Given the description of an element on the screen output the (x, y) to click on. 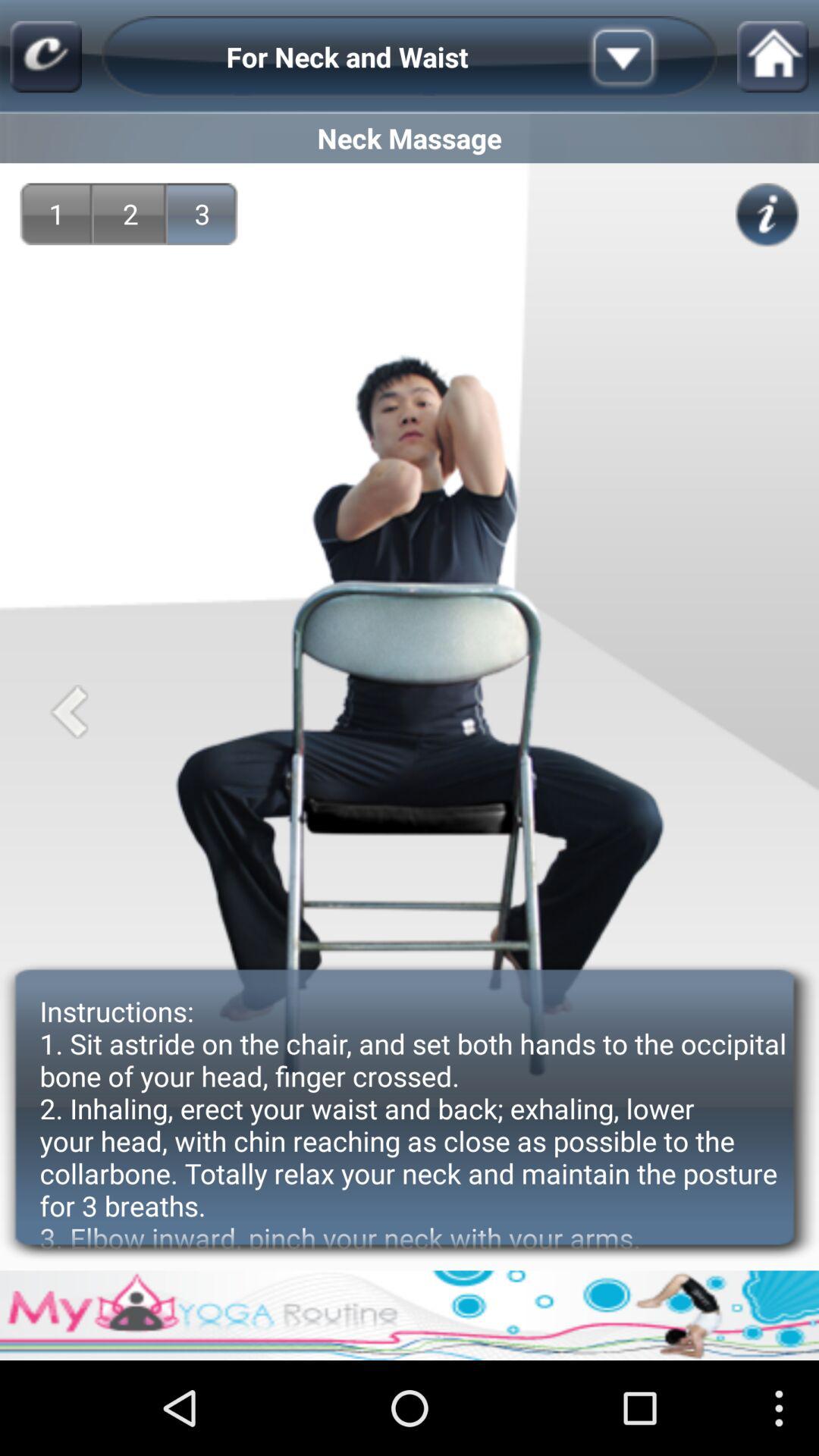
tap icon below neck massage (202, 214)
